Given the description of an element on the screen output the (x, y) to click on. 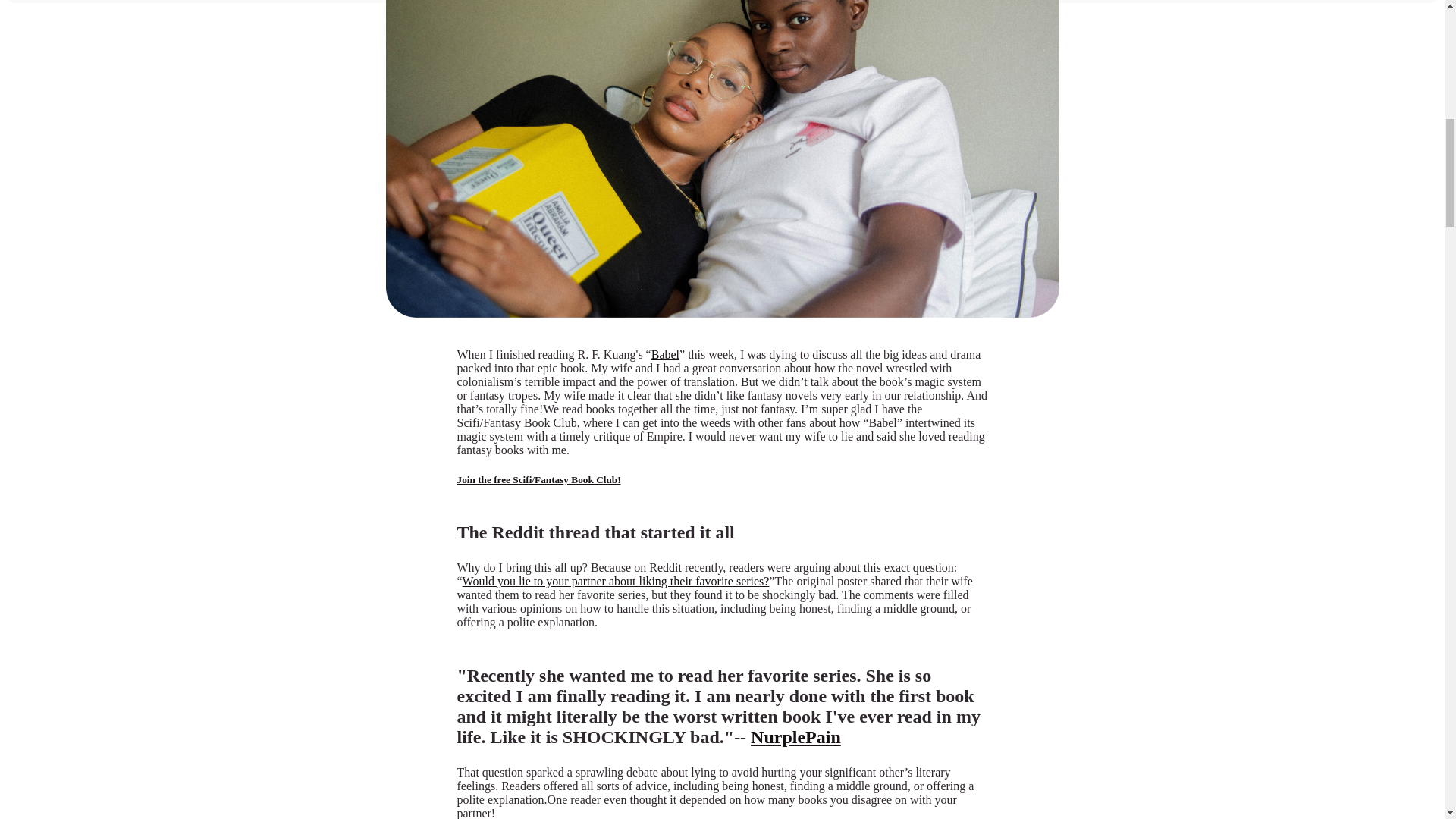
NurplePain (796, 736)
Babel (664, 354)
